Given the description of an element on the screen output the (x, y) to click on. 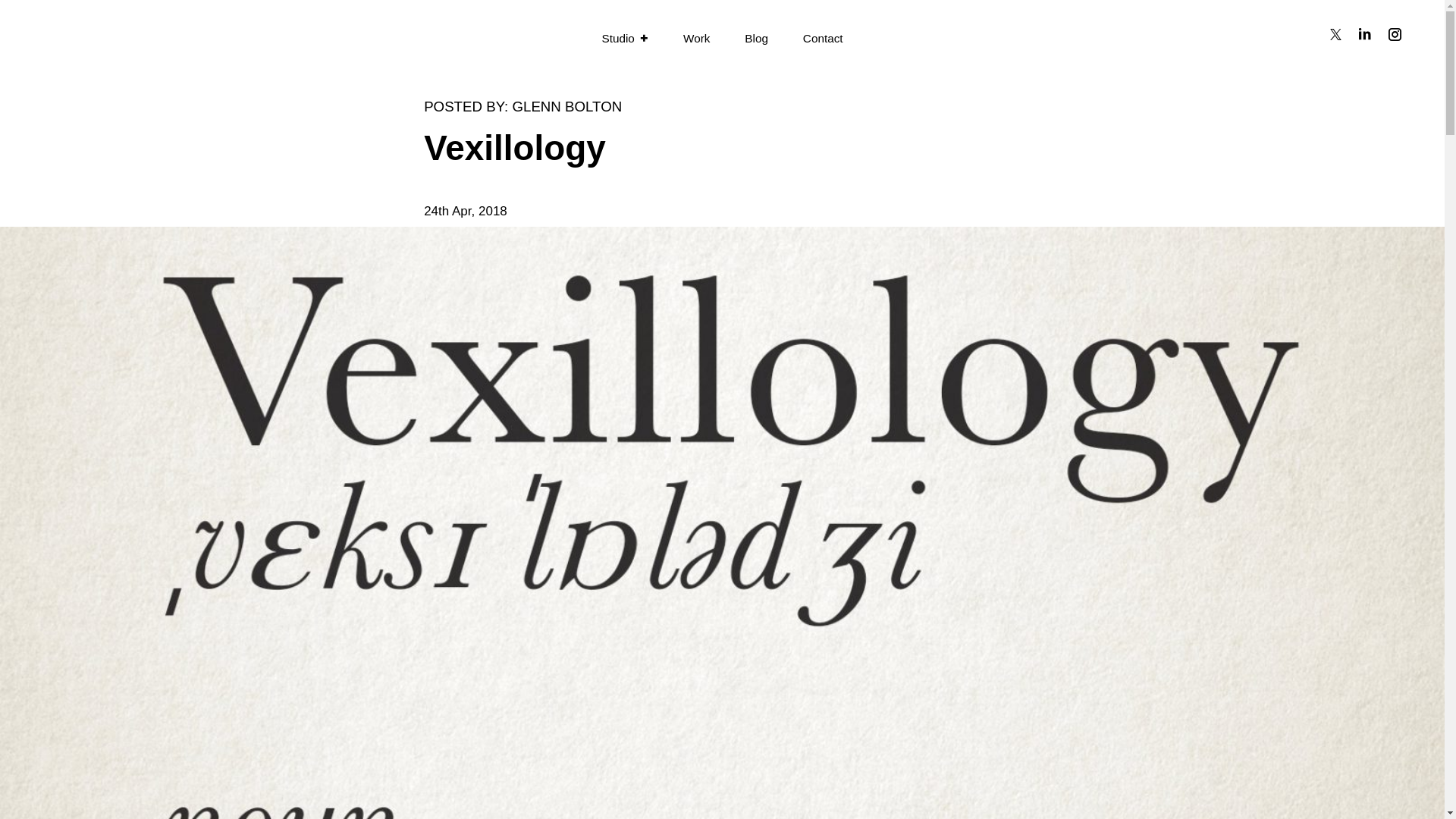
Instagram (1394, 33)
Studio Plus (624, 38)
Neworld, Great relationships build great brands (74, 34)
GLENN BOLTON (566, 106)
Blog (756, 38)
Contact (823, 38)
Plus (643, 38)
Twitter (1335, 33)
Work (696, 38)
LinkedIn (1364, 33)
